Given the description of an element on the screen output the (x, y) to click on. 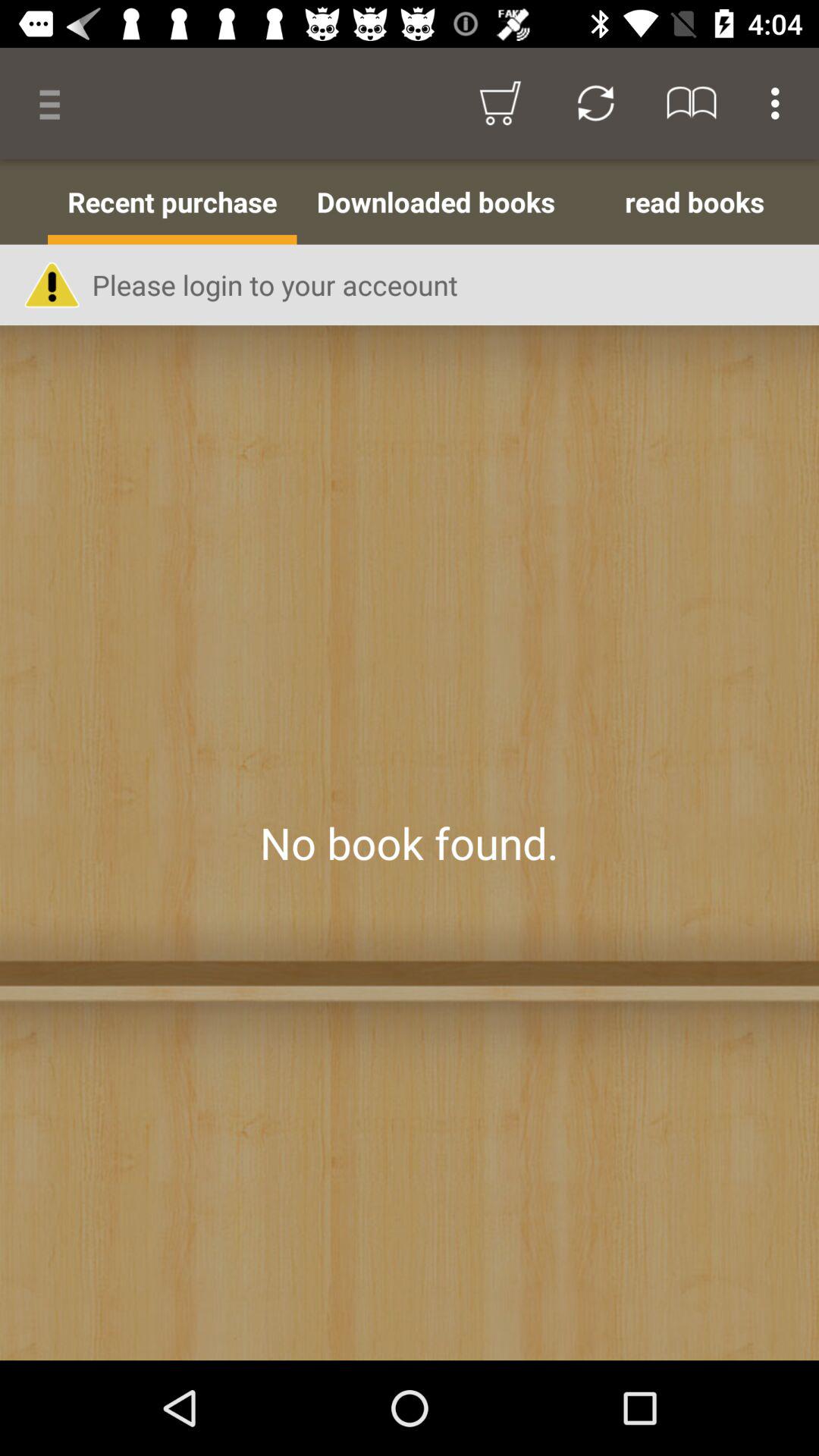
press the recent purchase app (171, 201)
